Given the description of an element on the screen output the (x, y) to click on. 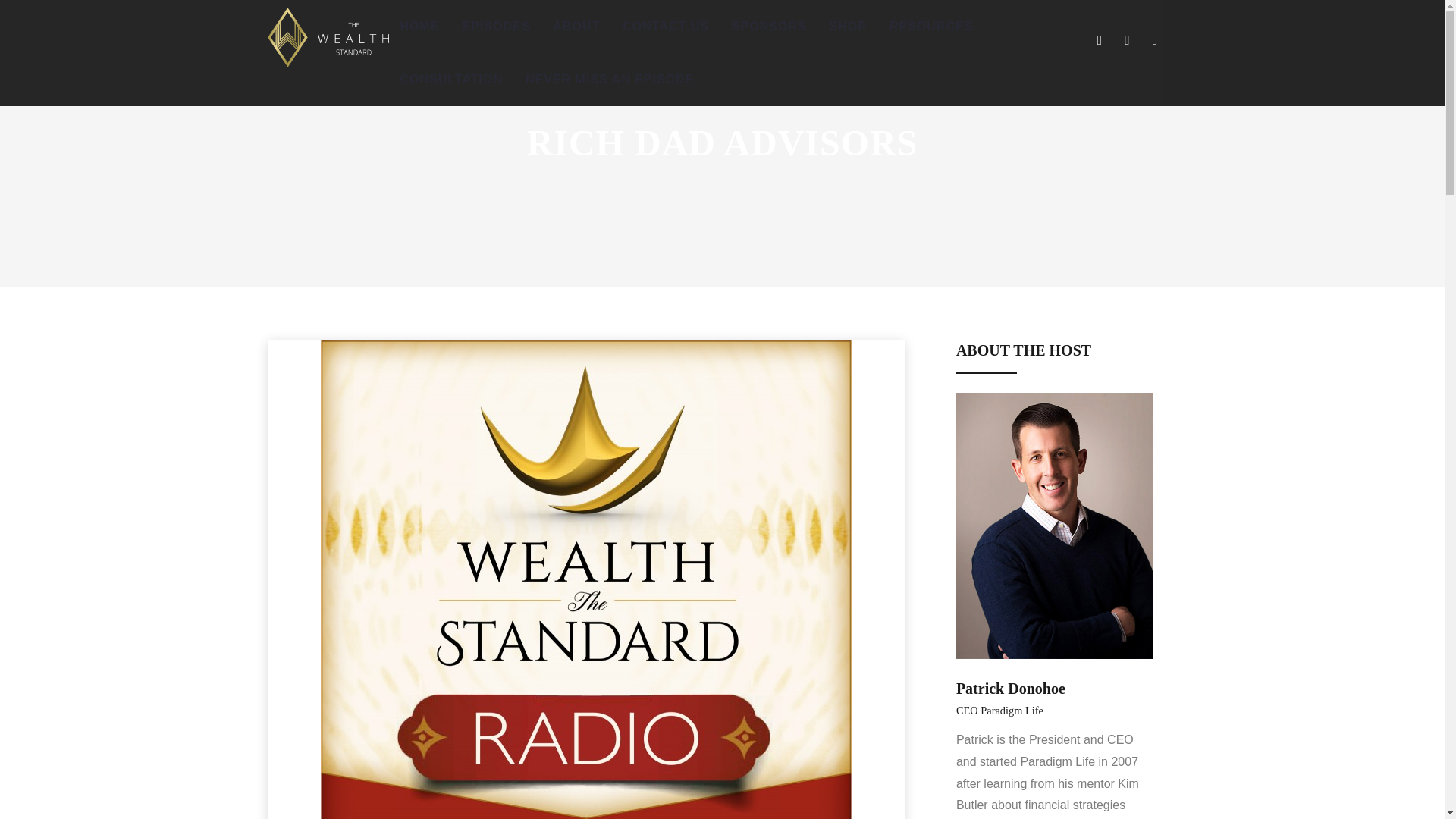
SPONSORS (769, 26)
EPISODES (495, 26)
NEVER MISS AN EPISODE (608, 79)
ABOUT (576, 26)
RESOURCES (930, 26)
SHOP (847, 26)
CONTACT US (665, 26)
HOME (418, 26)
CONSULTATION (450, 79)
